Given the description of an element on the screen output the (x, y) to click on. 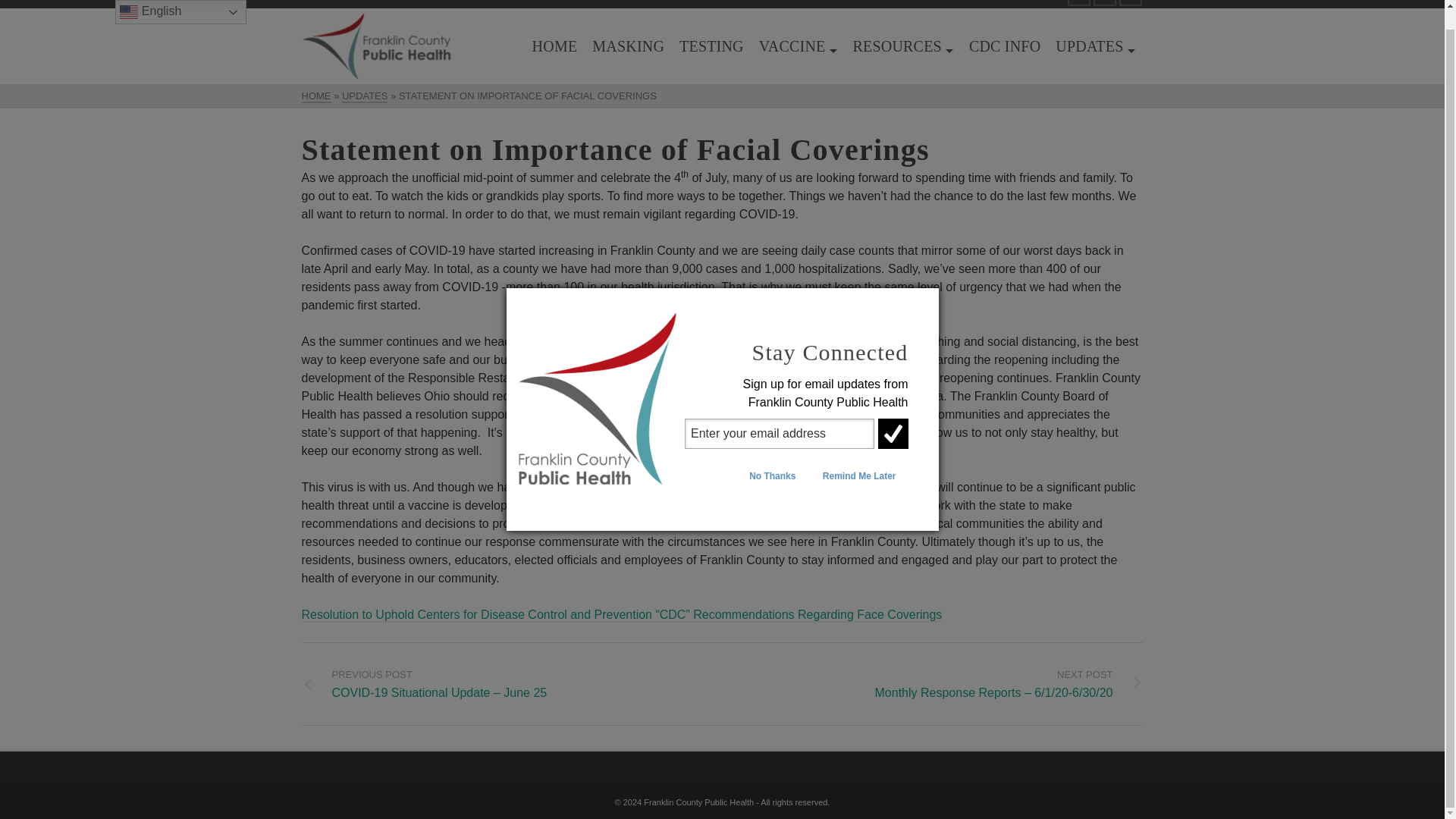
HOME (554, 45)
MASKING (628, 45)
TESTING (711, 45)
RESOURCES (902, 45)
VACCINE (798, 45)
CDC INFO (1004, 45)
Franklin County Public Health (698, 801)
UPDATES (1095, 45)
UPDATES (364, 96)
HOME (316, 96)
